Given the description of an element on the screen output the (x, y) to click on. 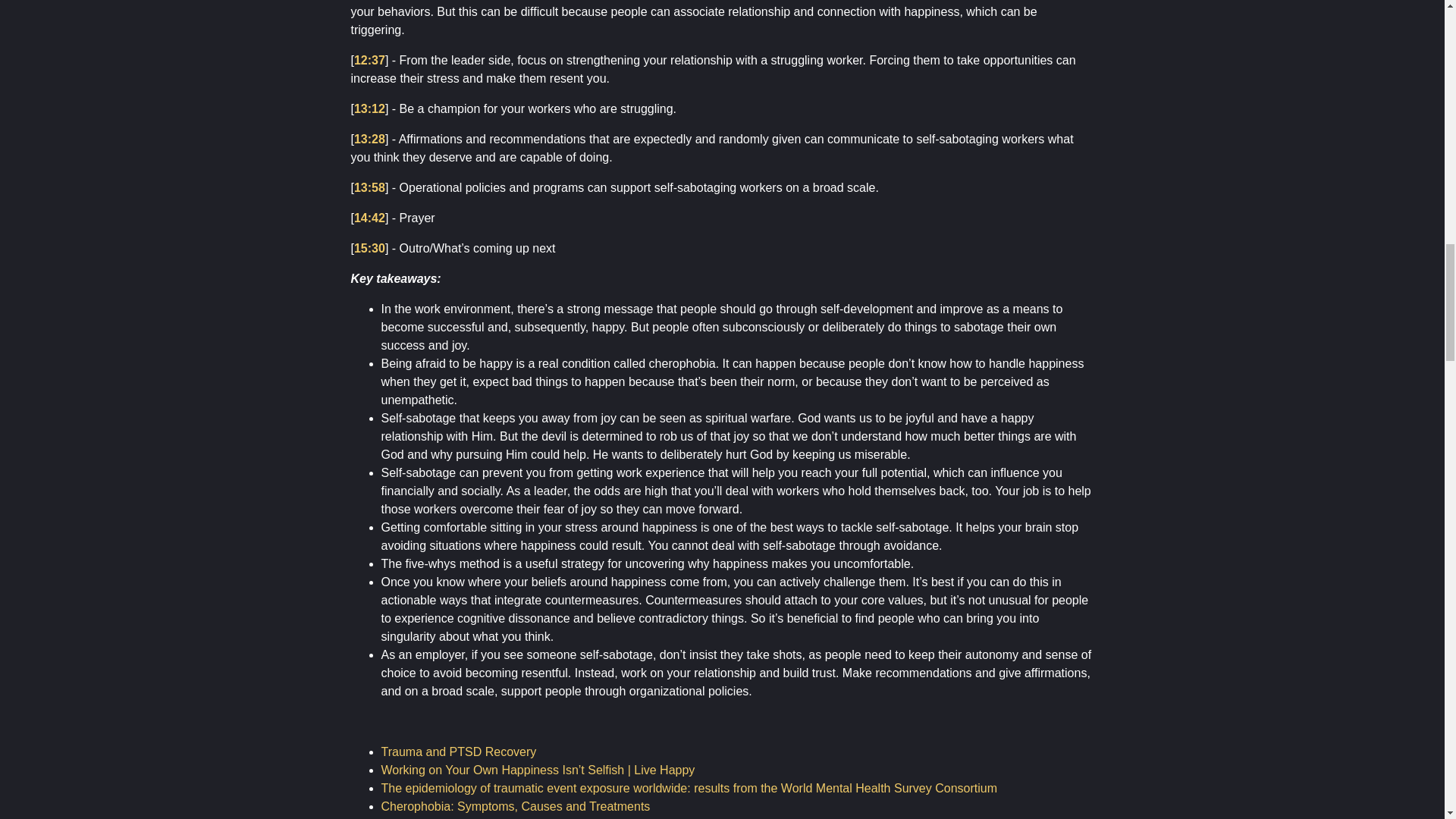
Trauma and PTSD Recovery (457, 751)
13:58 (369, 187)
Cherophobia: Symptoms, Causes and Treatments (514, 806)
14:42 (369, 217)
15:30 (369, 247)
13:28 (369, 138)
12:37 (369, 60)
13:12 (369, 108)
